Given the description of an element on the screen output the (x, y) to click on. 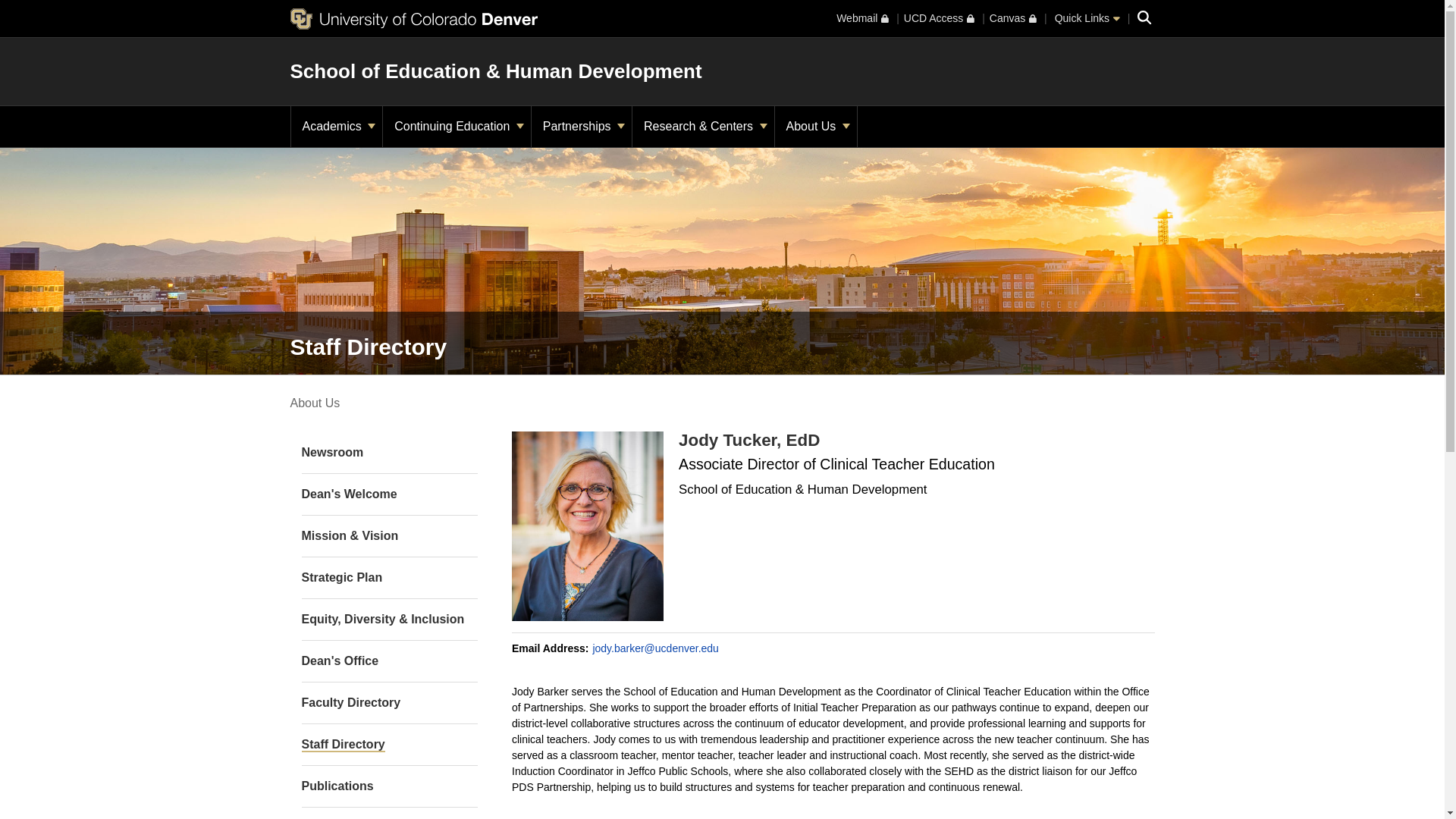
Academics (336, 126)
Webmail (861, 18)
Canvas (1013, 18)
Quick Links (1086, 18)
UCD Access (939, 18)
